Given the description of an element on the screen output the (x, y) to click on. 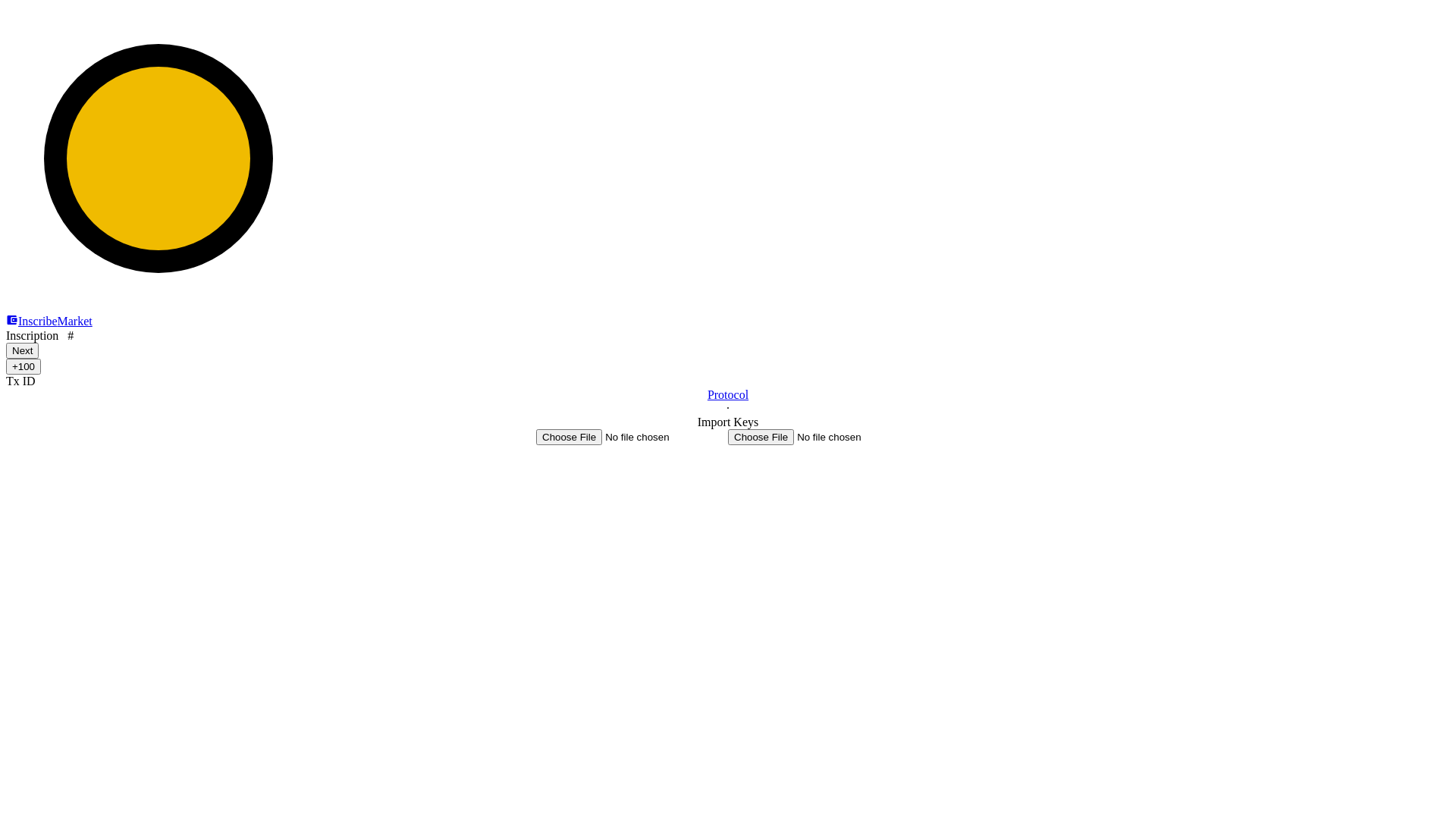
Market Element type: text (74, 321)
Inscribe Element type: text (37, 321)
Next Element type: text (22, 350)
+100 Element type: text (23, 366)
Protocol Element type: text (727, 394)
